Given the description of an element on the screen output the (x, y) to click on. 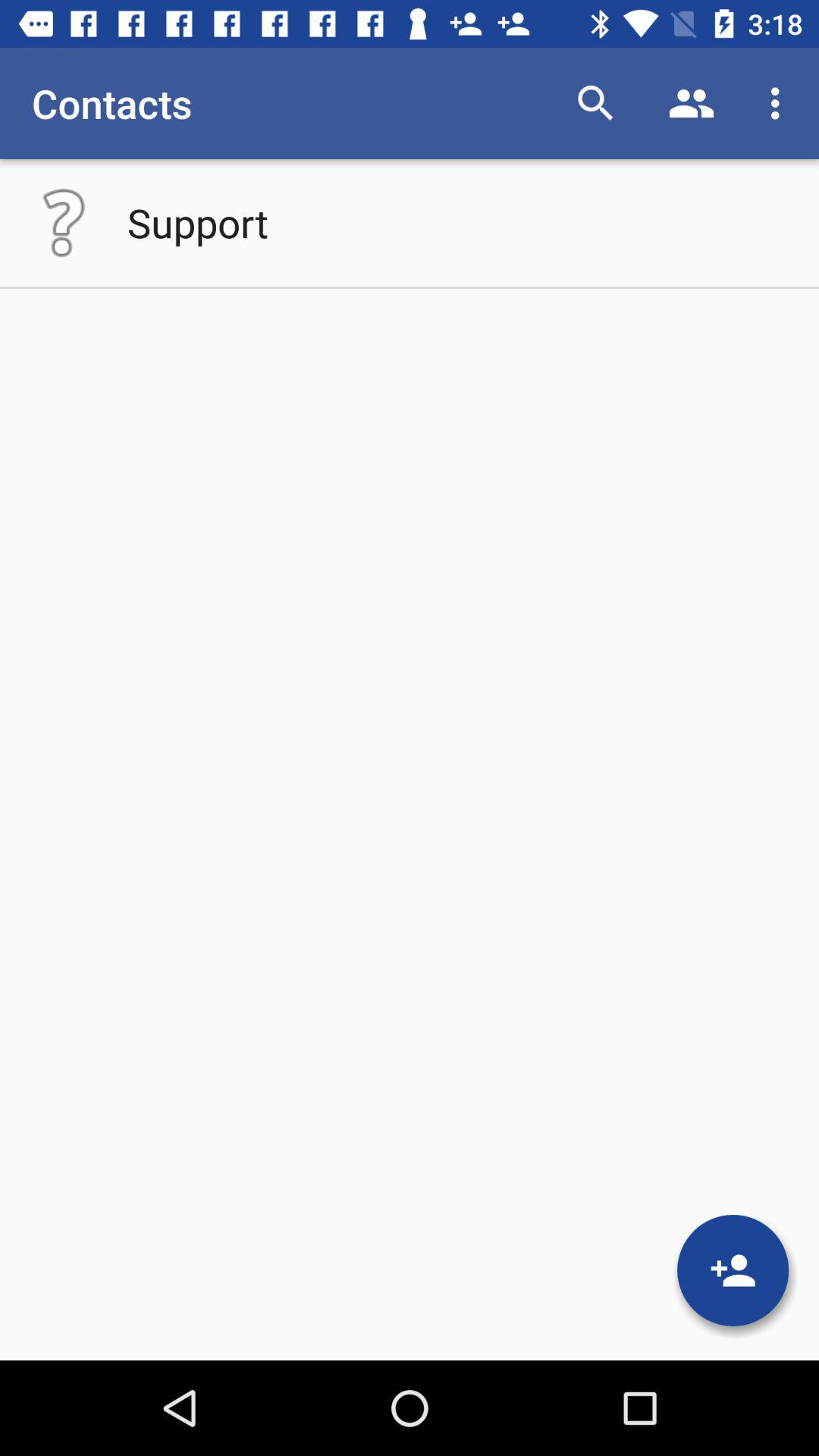
turn on the support (197, 222)
